Given the description of an element on the screen output the (x, y) to click on. 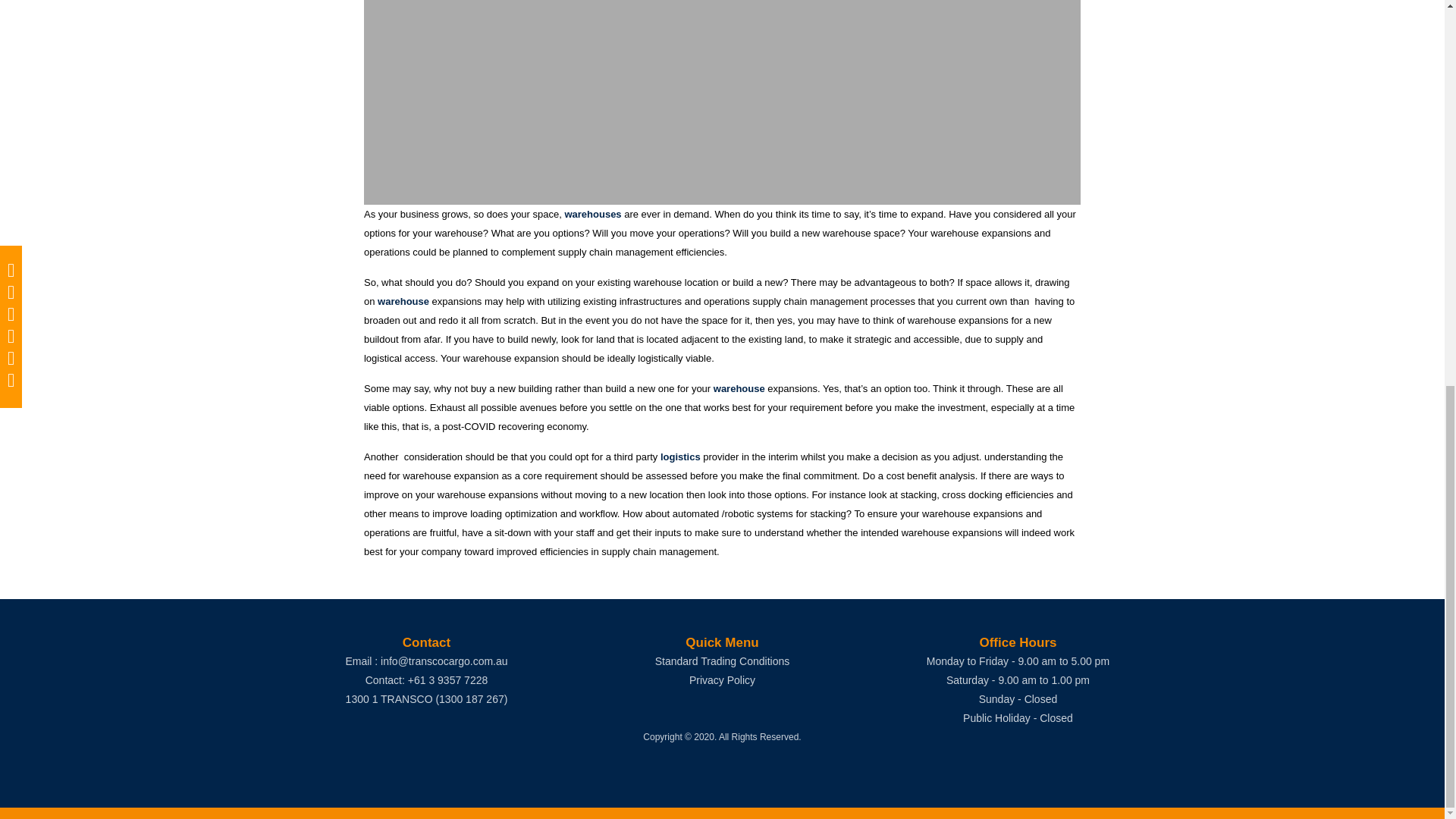
warehouse (739, 388)
warehouse (403, 301)
warehouses (592, 214)
